Given the description of an element on the screen output the (x, y) to click on. 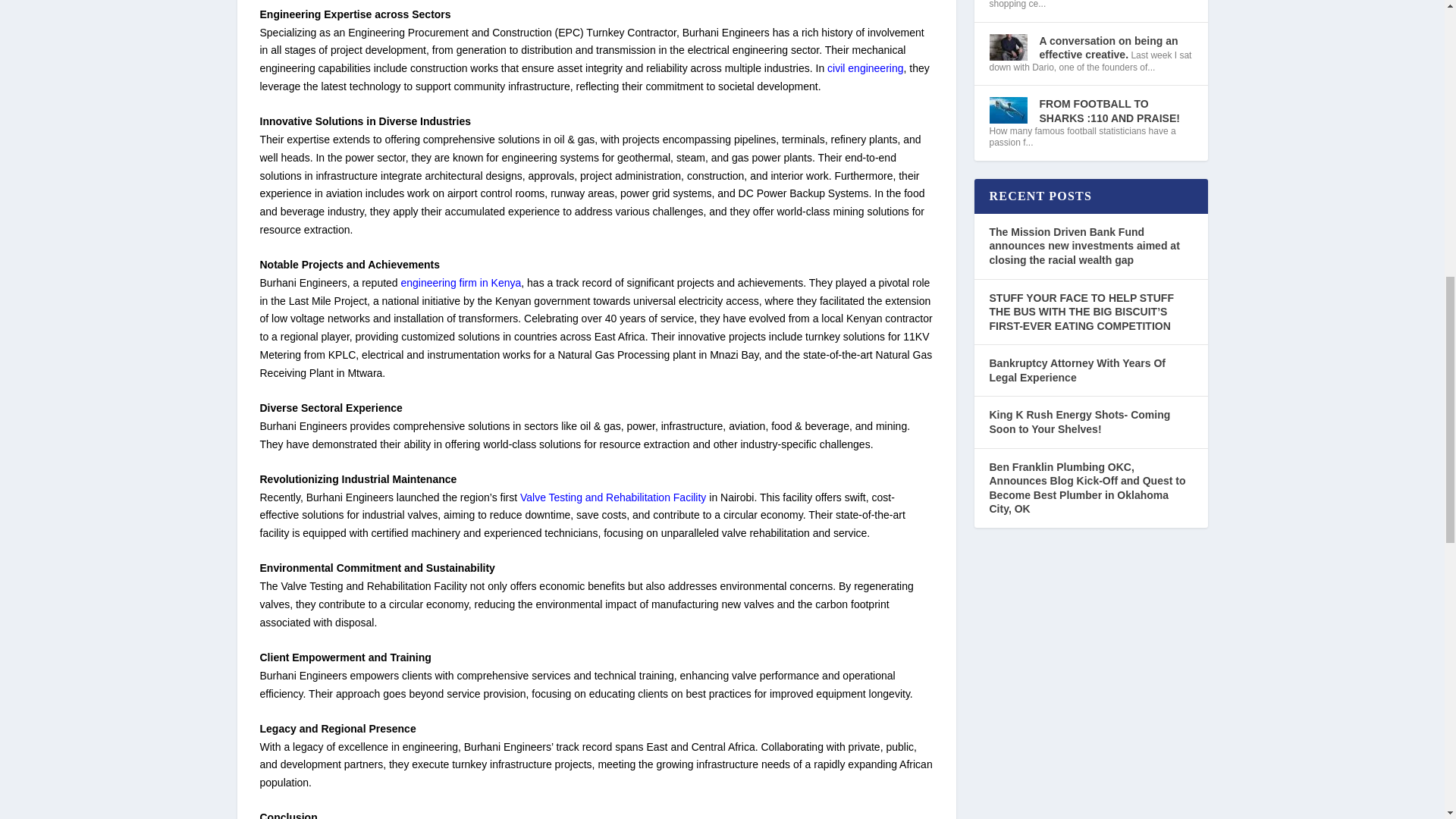
engineering firm in Kenya (461, 282)
civil engineering (864, 68)
Valve Testing and Rehabilitation Facility (612, 497)
